Given the description of an element on the screen output the (x, y) to click on. 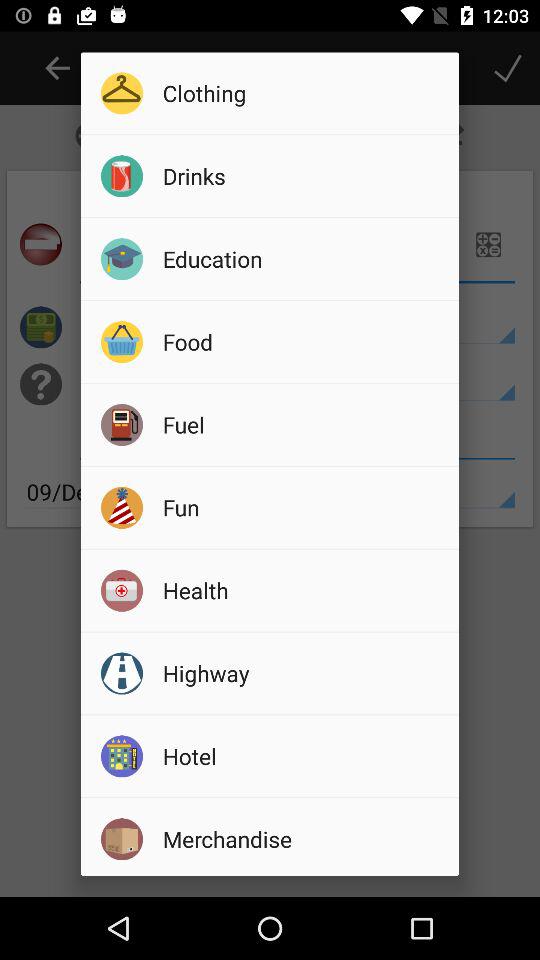
scroll to the food item (303, 341)
